Given the description of an element on the screen output the (x, y) to click on. 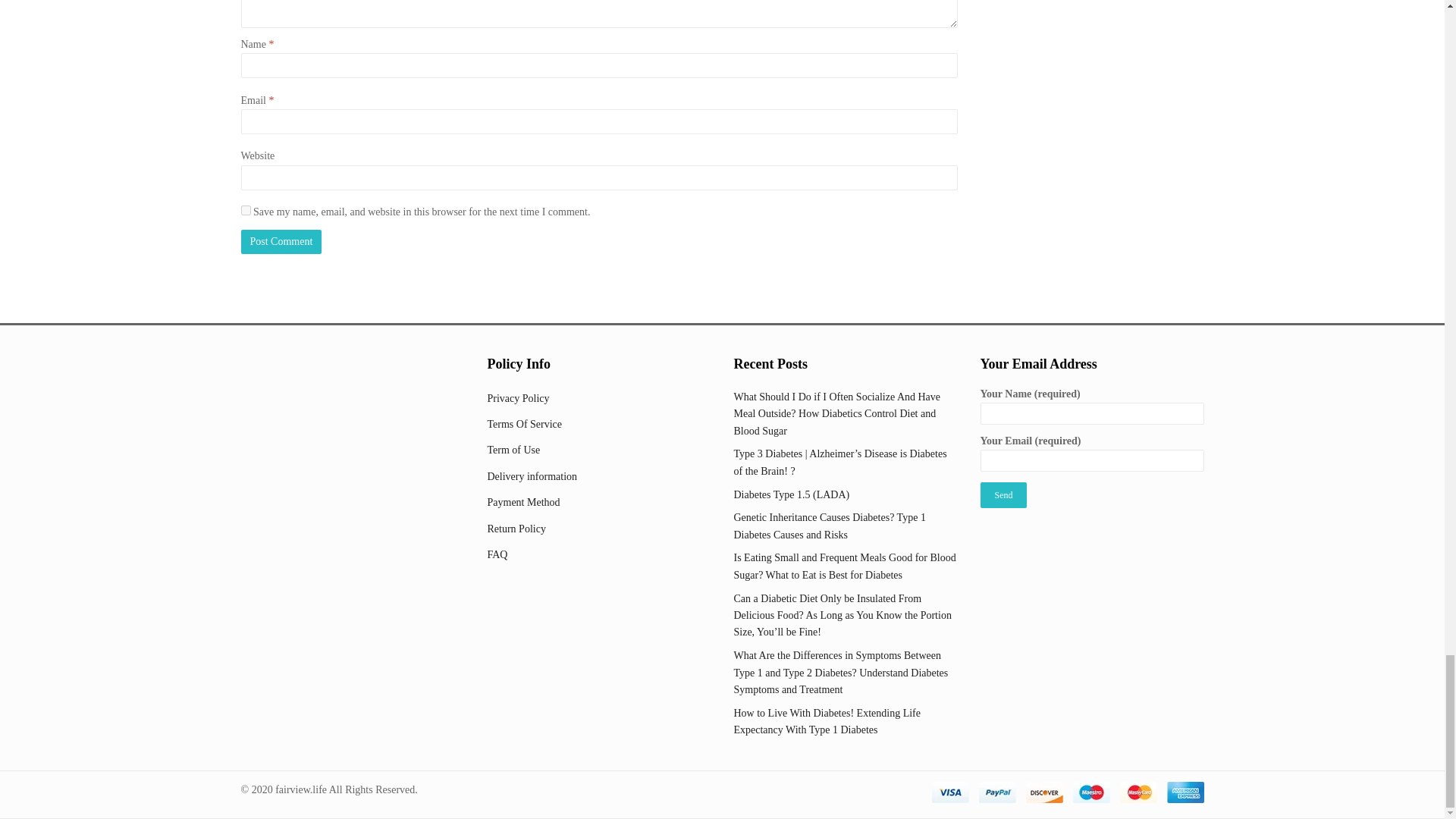
Post Comment (281, 241)
Send (1002, 494)
yes (245, 210)
